Given the description of an element on the screen output the (x, y) to click on. 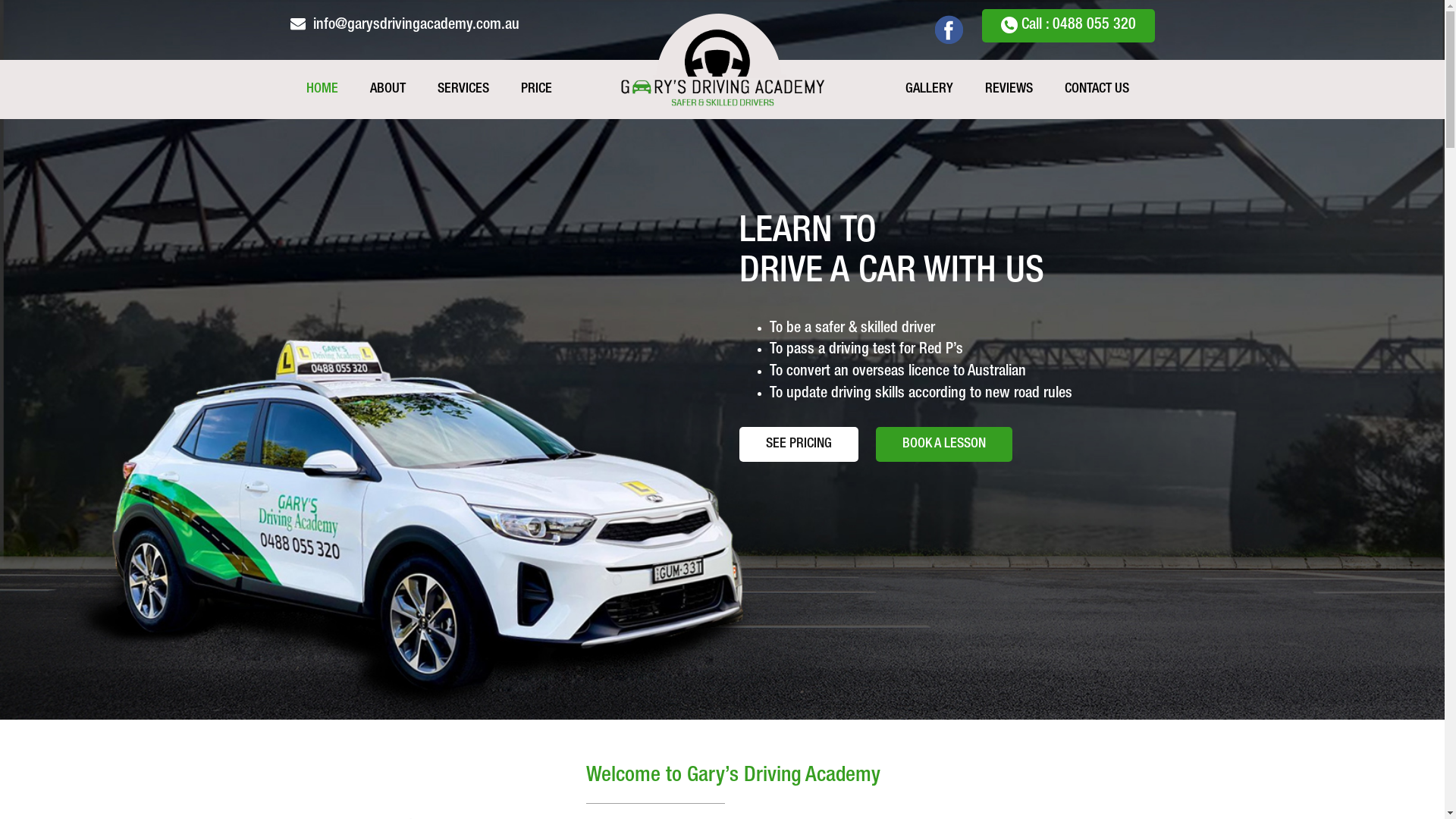
REVIEWS Element type: text (1008, 89)
SEE PRICING Element type: text (798, 443)
ABOUT Element type: text (387, 89)
info@garysdrivingacademy.com.au Element type: text (415, 25)
PRICE Element type: text (535, 89)
BOOK A LESSON Element type: text (943, 443)
SERVICES Element type: text (462, 89)
Call : 0488 055 320 Element type: text (1067, 25)
HOME Element type: text (322, 89)
GALLERY Element type: text (929, 89)
CONTACT US Element type: text (1096, 89)
